Given the description of an element on the screen output the (x, y) to click on. 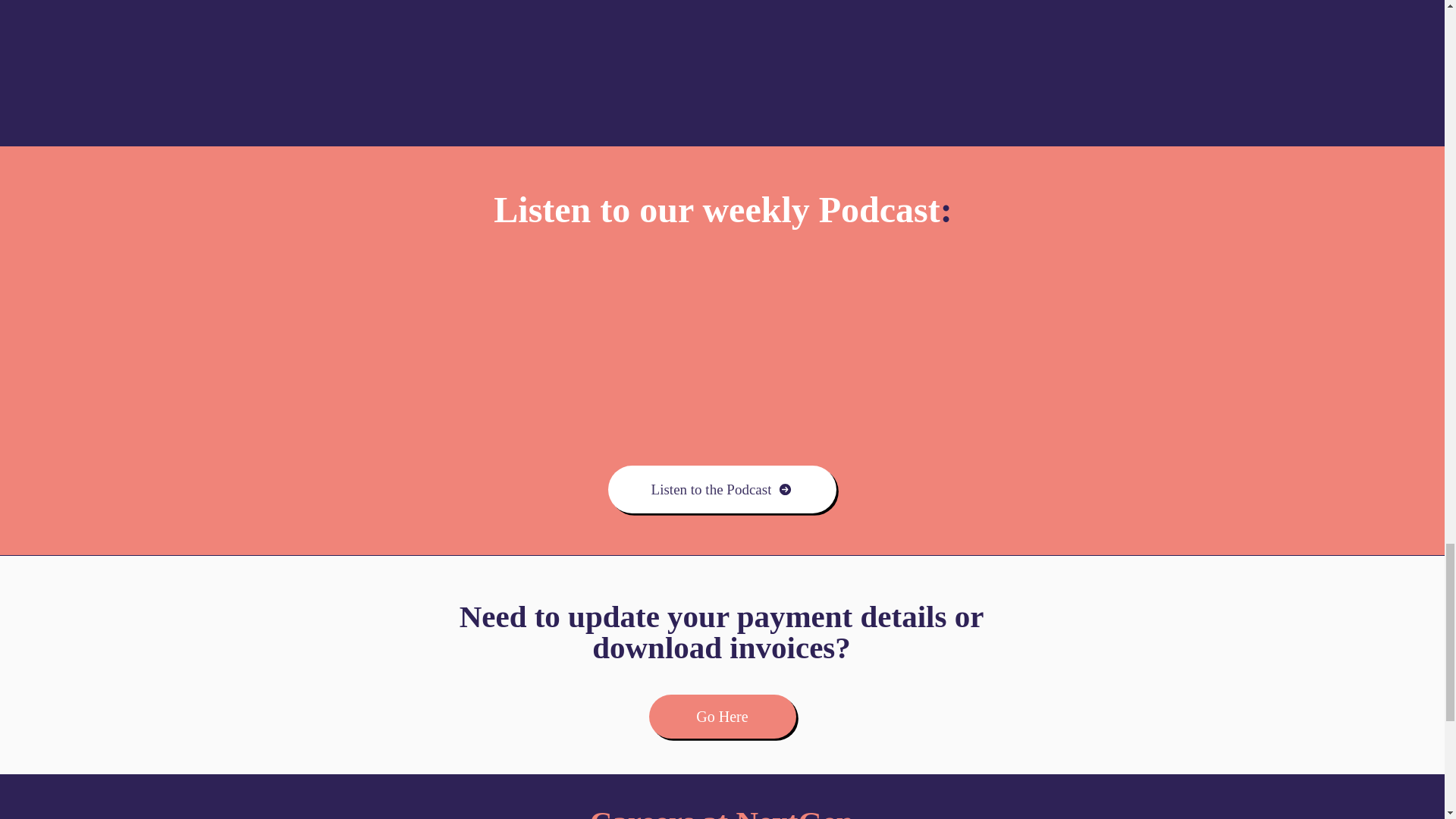
Go Here (722, 716)
Careers at NextGen (721, 811)
Listen to the Podcast (721, 489)
